Given the description of an element on the screen output the (x, y) to click on. 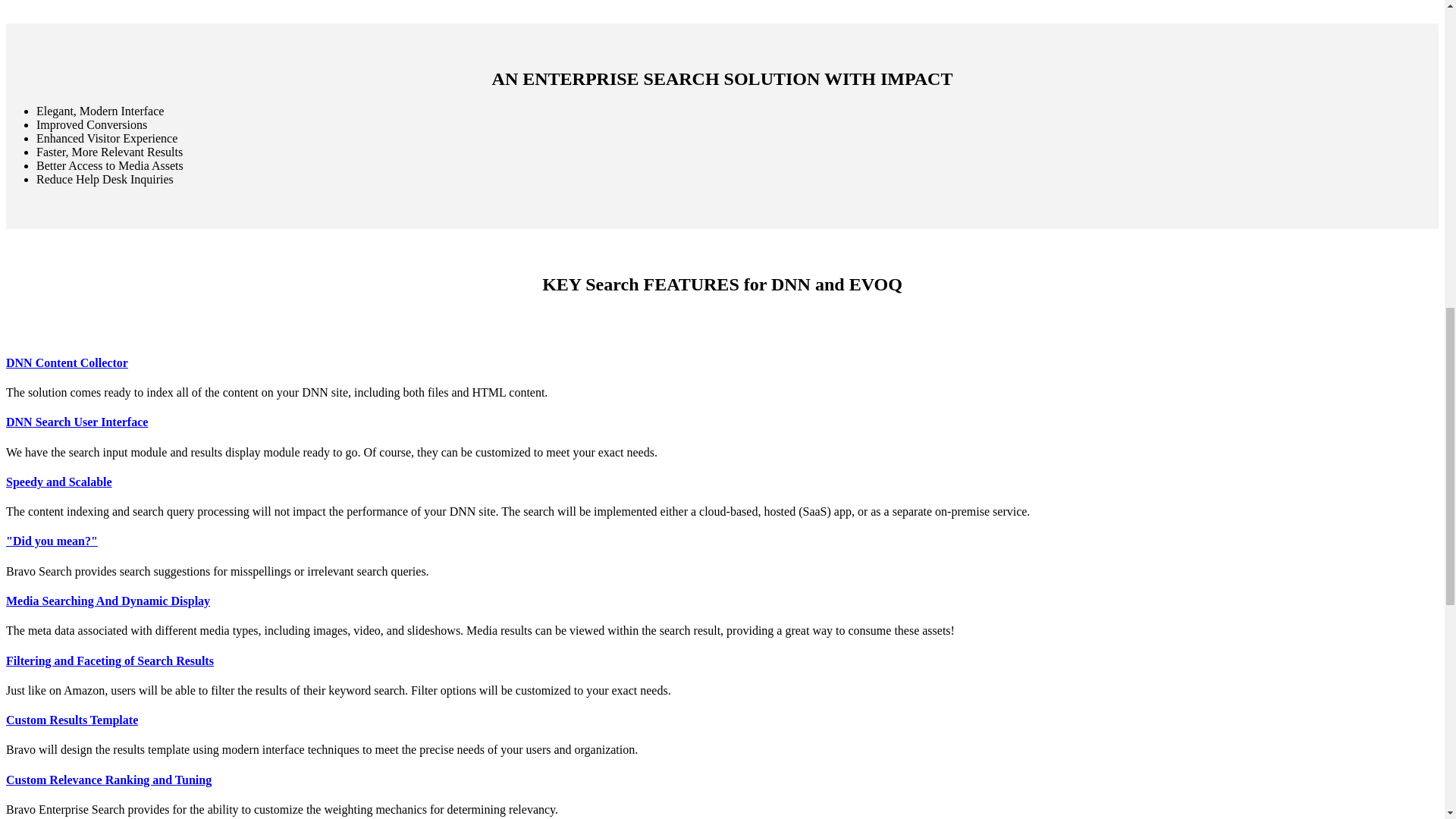
Custom Results Template (71, 719)
DNN Search User Interface (76, 421)
Custom Relevance Ranking and Tuning (108, 779)
DNN Content Collector (66, 362)
Filtering and Faceting of Search Results (109, 660)
Media Searching And Dynamic Display (107, 600)
Speedy and Scalable (58, 481)
"Did you mean?" (51, 540)
